Given the description of an element on the screen output the (x, y) to click on. 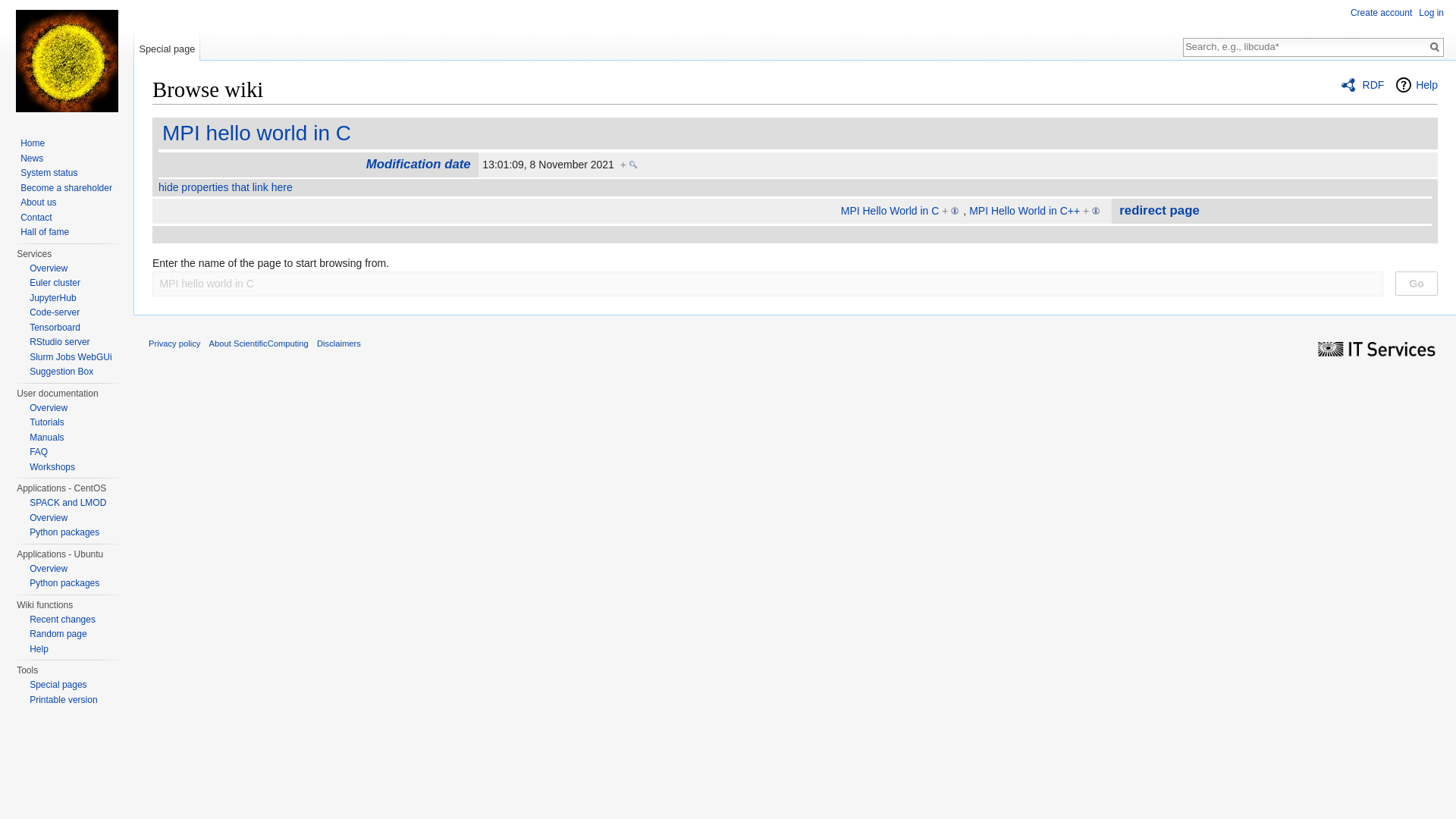
Tensorboard (54, 326)
System status (48, 172)
Go (1434, 46)
Overview (47, 267)
Go (1416, 283)
Home (32, 143)
Go (1416, 283)
This is a special page, and it cannot be edited (166, 45)
News (31, 158)
Modification date (418, 164)
Go (1434, 46)
RDF (1362, 85)
Property:Modification date (418, 164)
The place to find out (38, 647)
